Given the description of an element on the screen output the (x, y) to click on. 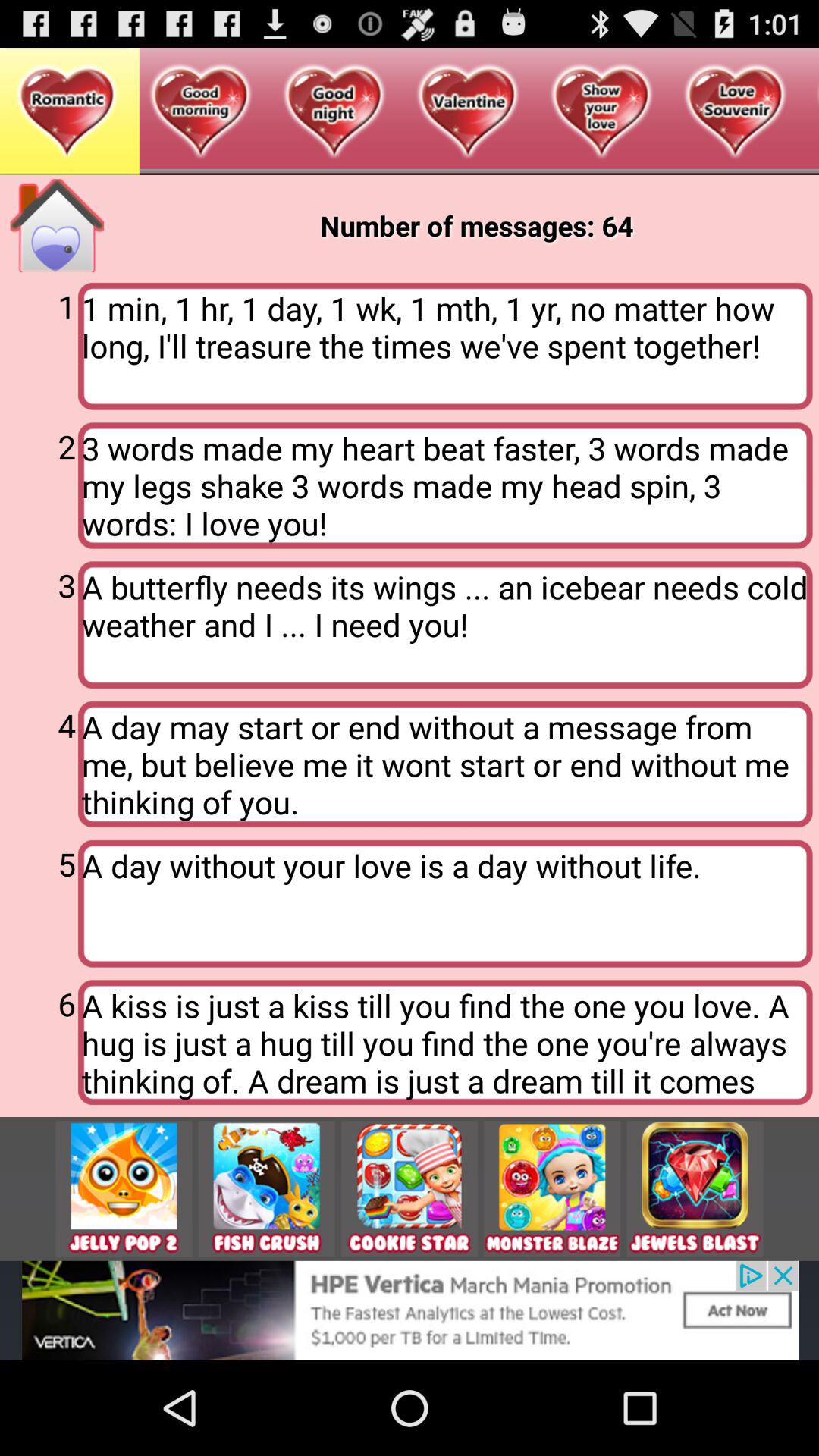
play fish crush (266, 1188)
